Given the description of an element on the screen output the (x, y) to click on. 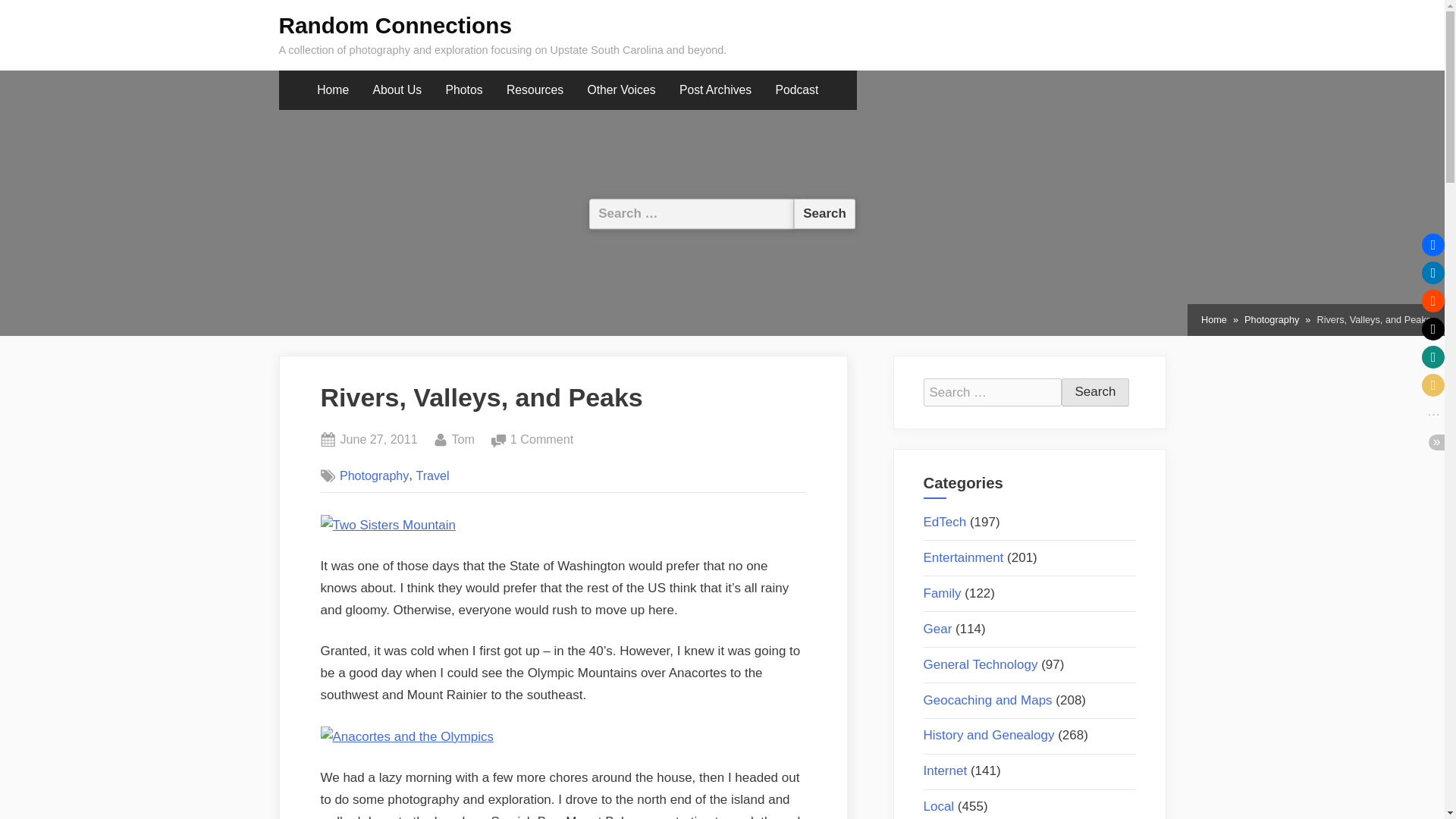
Two Sisters Mountain by RandomConnections, on Flickr (387, 524)
Search (1095, 392)
Photos (465, 90)
Home (1214, 320)
Random Connections (395, 25)
Search (824, 214)
Search (824, 214)
Search (1095, 392)
Resources (534, 90)
About Us (397, 90)
Post Archives (715, 90)
Podcast (797, 90)
Other Voices (621, 90)
Photography (1271, 320)
Photography (374, 475)
